Given the description of an element on the screen output the (x, y) to click on. 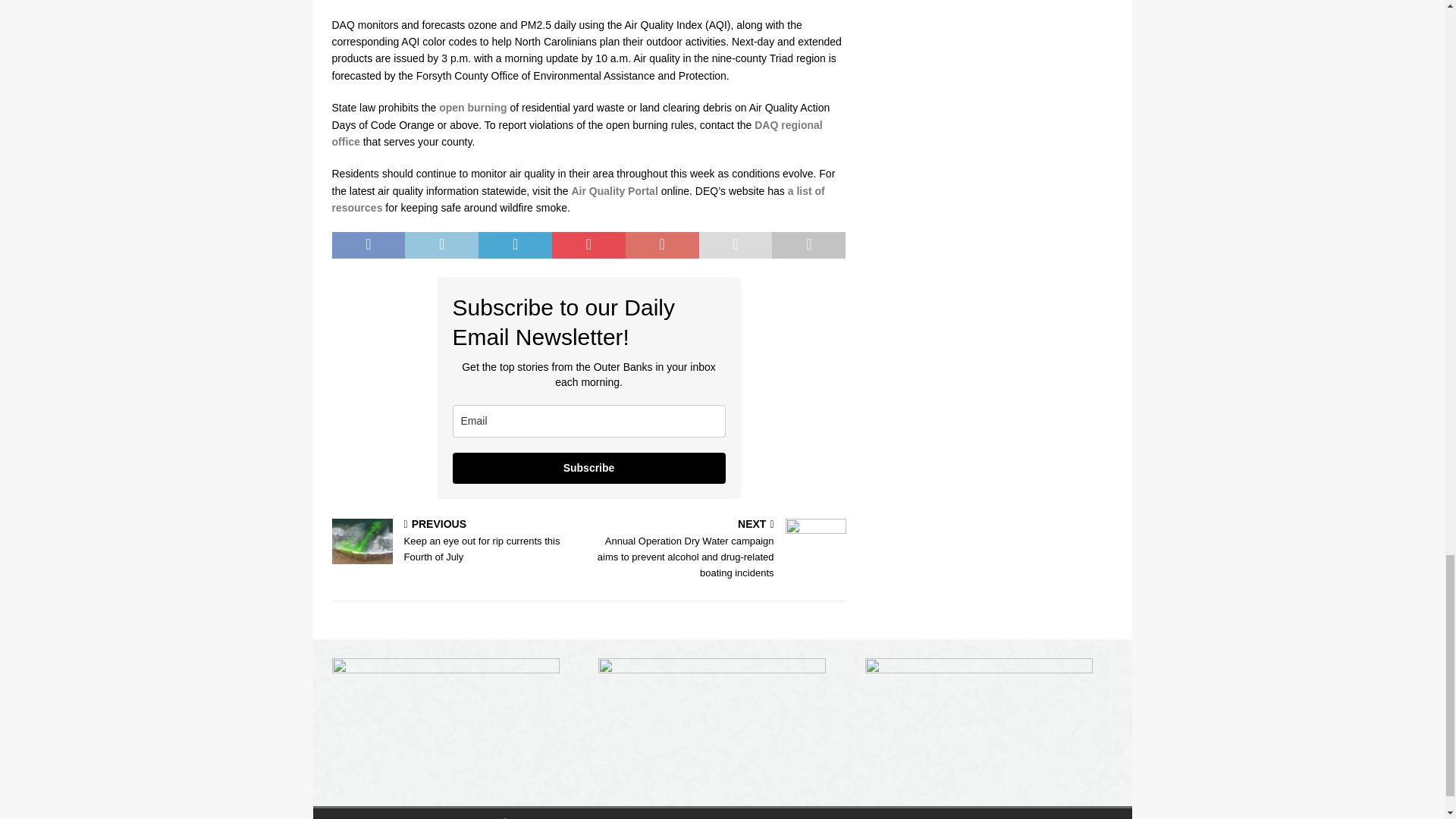
open burning (472, 107)
a list of resources (578, 199)
DAQ regional office (576, 133)
Air Quality Portal (614, 191)
